Given the description of an element on the screen output the (x, y) to click on. 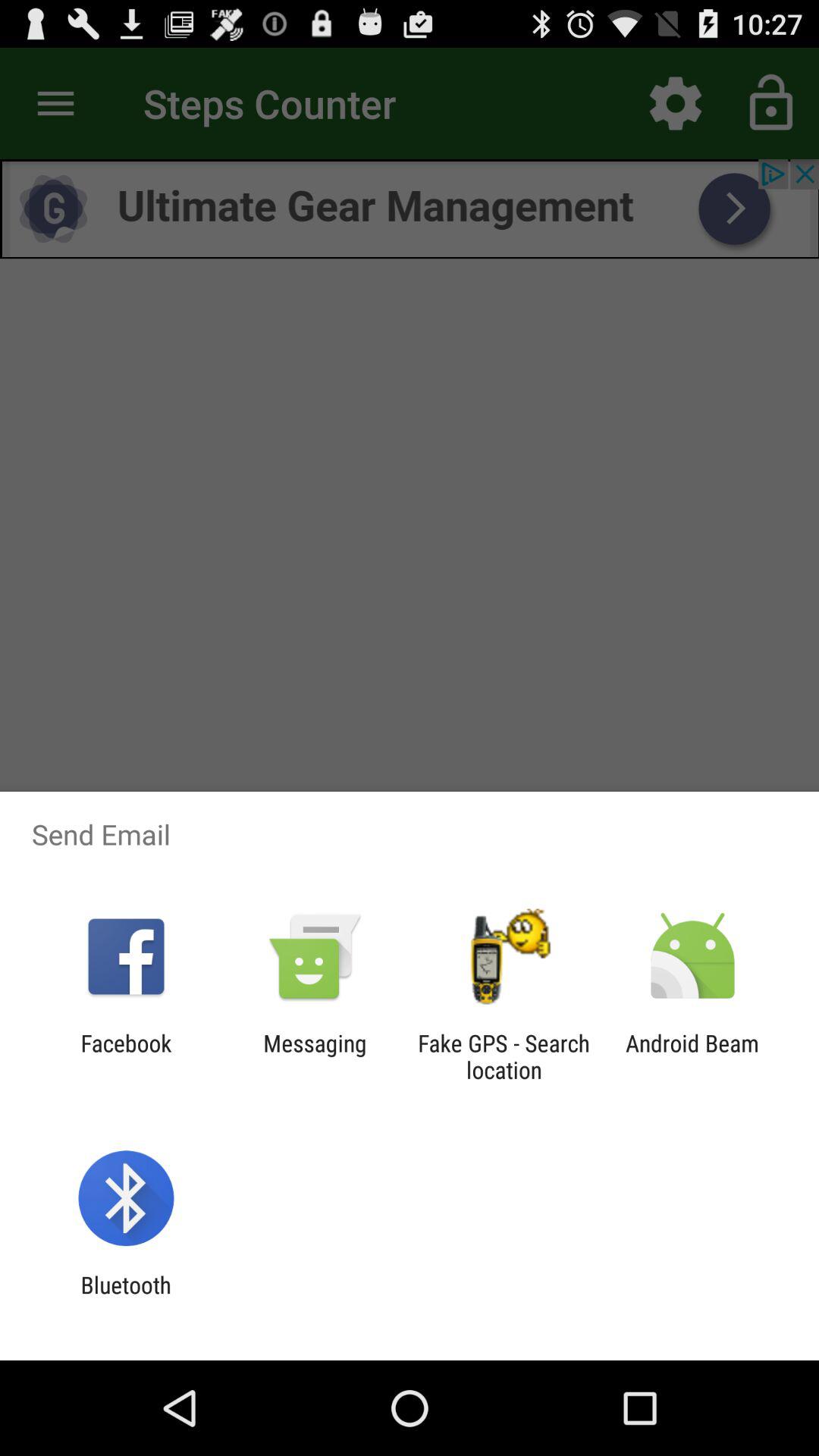
tap facebook item (125, 1056)
